Given the description of an element on the screen output the (x, y) to click on. 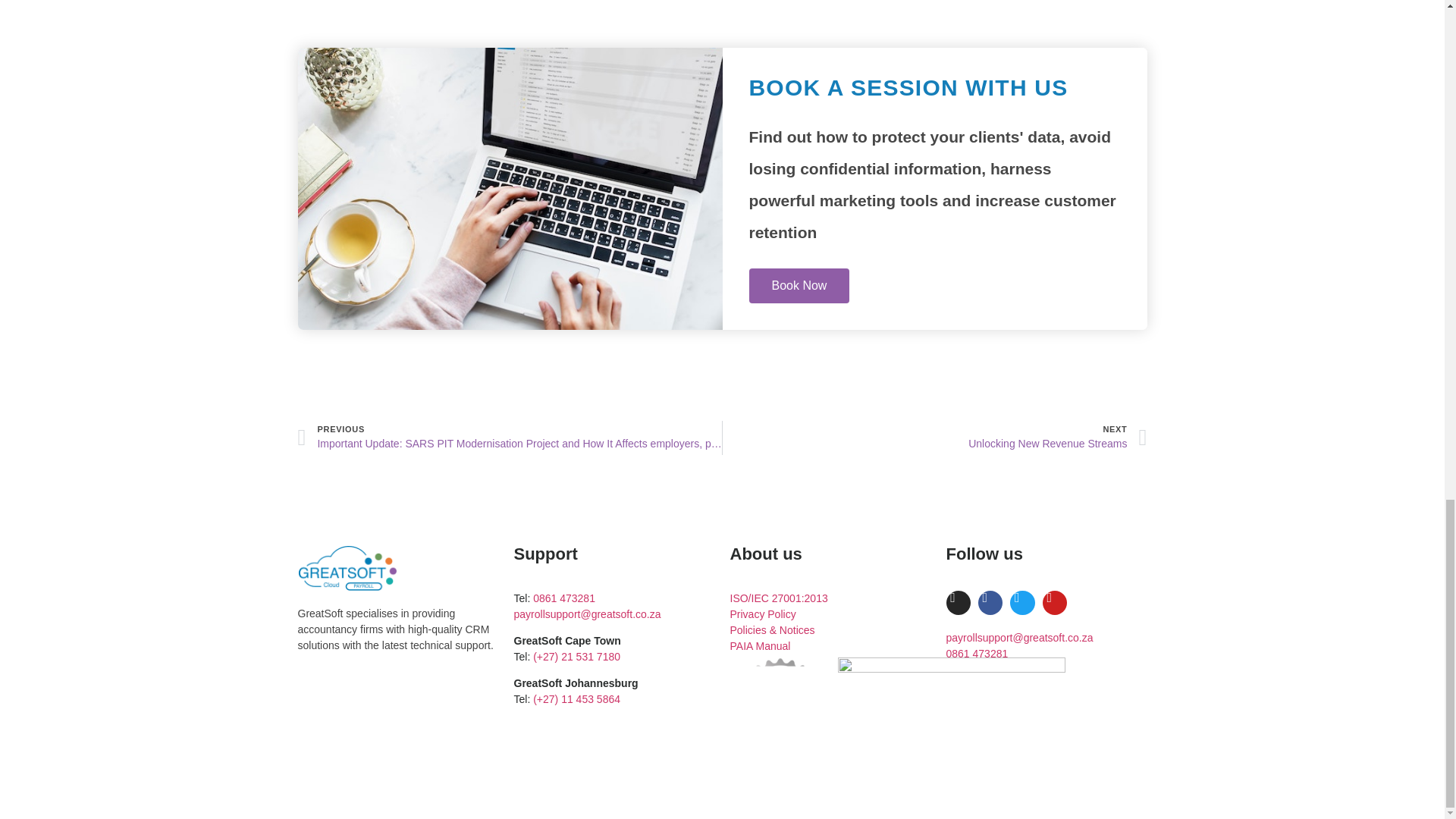
Privacy Policy (761, 613)
PAIA Manual (759, 645)
Book Now (799, 284)
0861 473281 (563, 598)
